Given the description of an element on the screen output the (x, y) to click on. 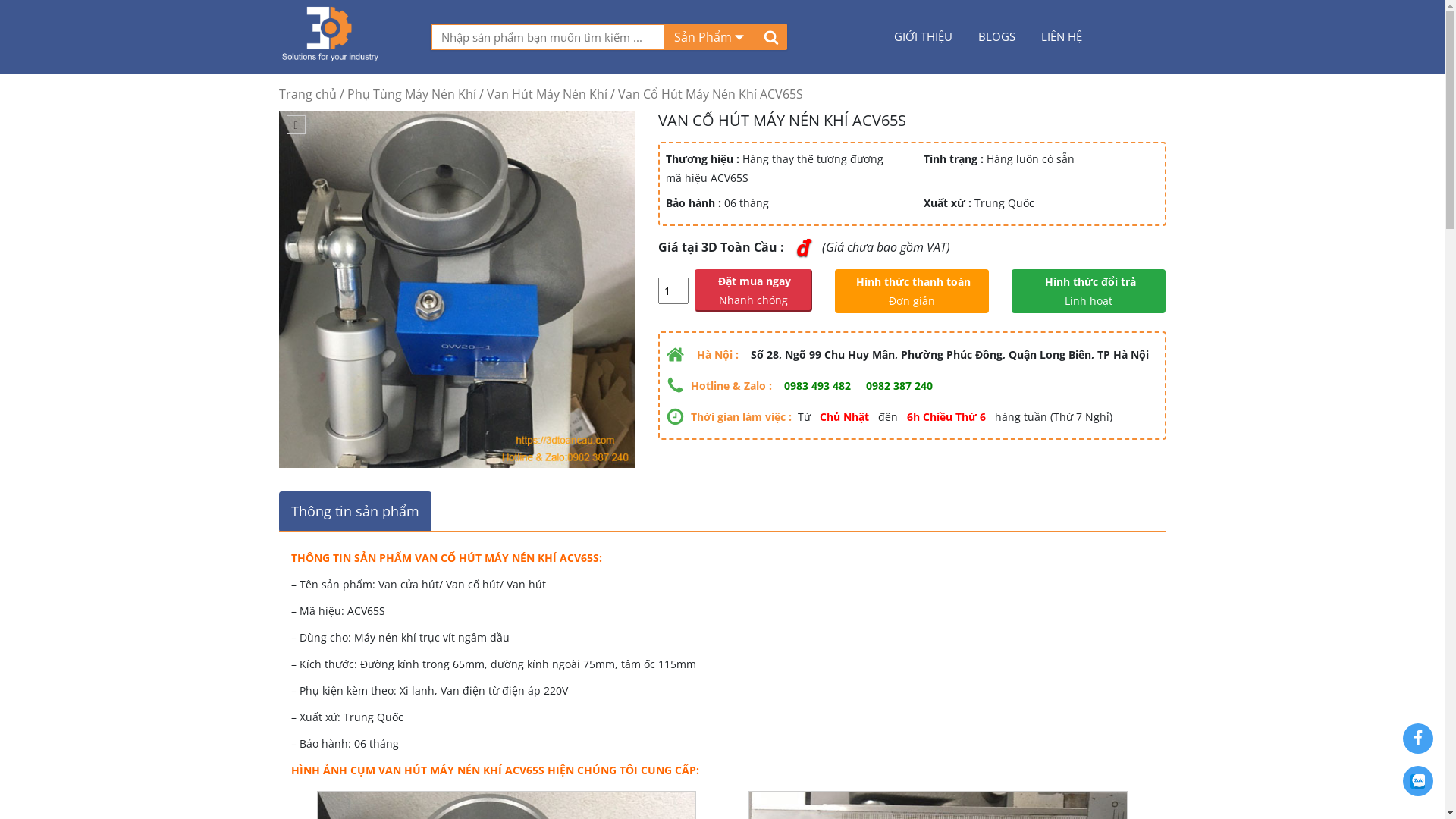
0983 493 482 Element type: text (817, 385)
Van hut ACV65S Element type: hover (457, 289)
BLOGS Element type: text (996, 36)
SL Element type: hover (673, 290)
0982 387 240 Element type: text (899, 385)
